Given the description of an element on the screen output the (x, y) to click on. 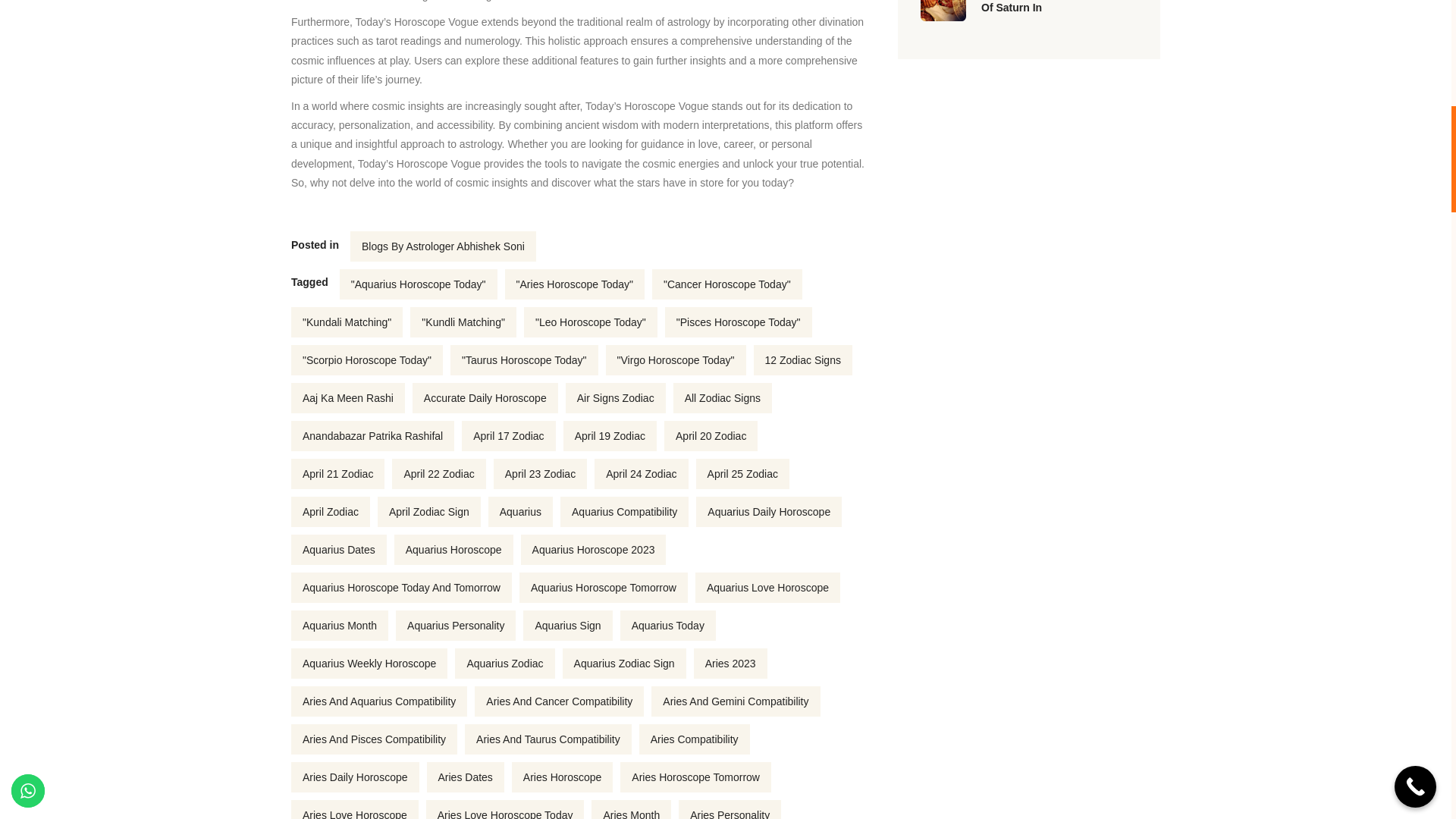
April 19 Zodiac (609, 435)
April 25 Zodiac (742, 473)
April 22 Zodiac (437, 473)
12 Zodiac Signs (802, 359)
"Kundali Matching" (347, 322)
"Virgo Horoscope Today" (675, 359)
April 24 Zodiac (640, 473)
April 17 Zodiac (507, 435)
Blogs By Astrologer Abhishek Soni (442, 245)
Accurate Daily Horoscope (484, 398)
Anandabazar Patrika Rashifal (372, 435)
"Aries Horoscope Today" (575, 284)
April 20 Zodiac (710, 435)
April Zodiac Sign (428, 511)
April 23 Zodiac (539, 473)
